Given the description of an element on the screen output the (x, y) to click on. 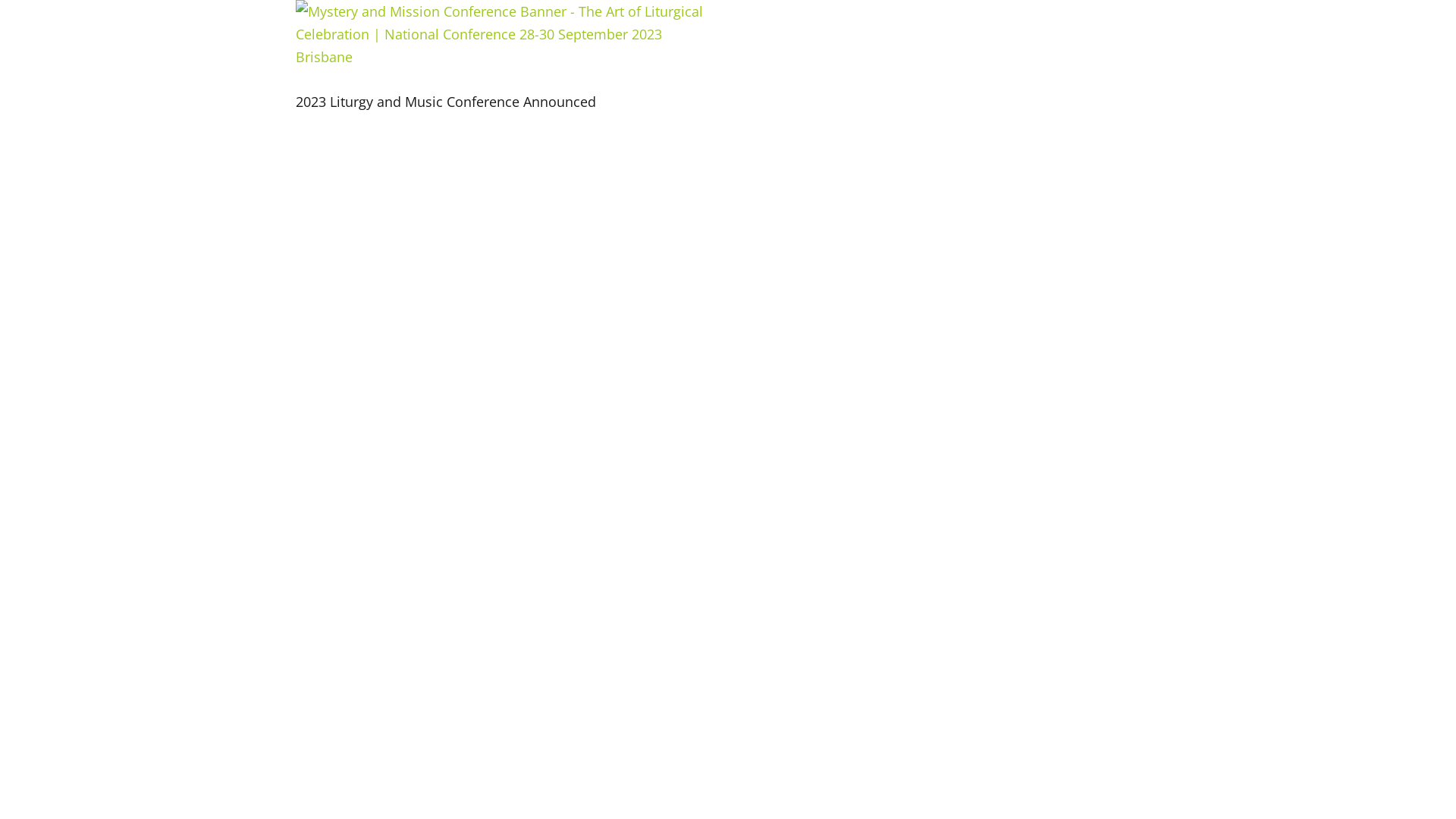
2023 Liturgy and Music Conference Announced Element type: text (445, 101)
